Given the description of an element on the screen output the (x, y) to click on. 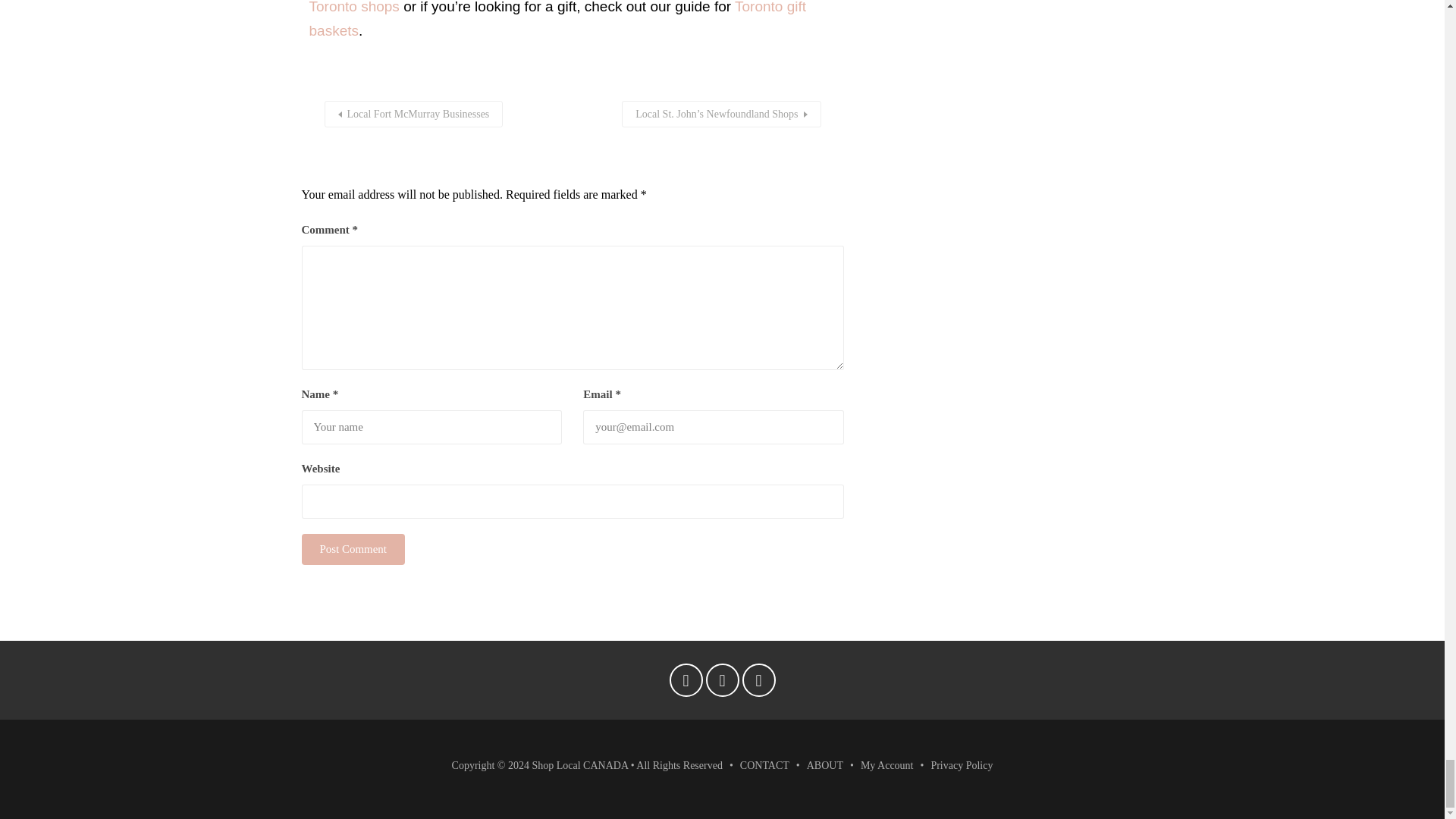
Post Comment (352, 549)
